Given the description of an element on the screen output the (x, y) to click on. 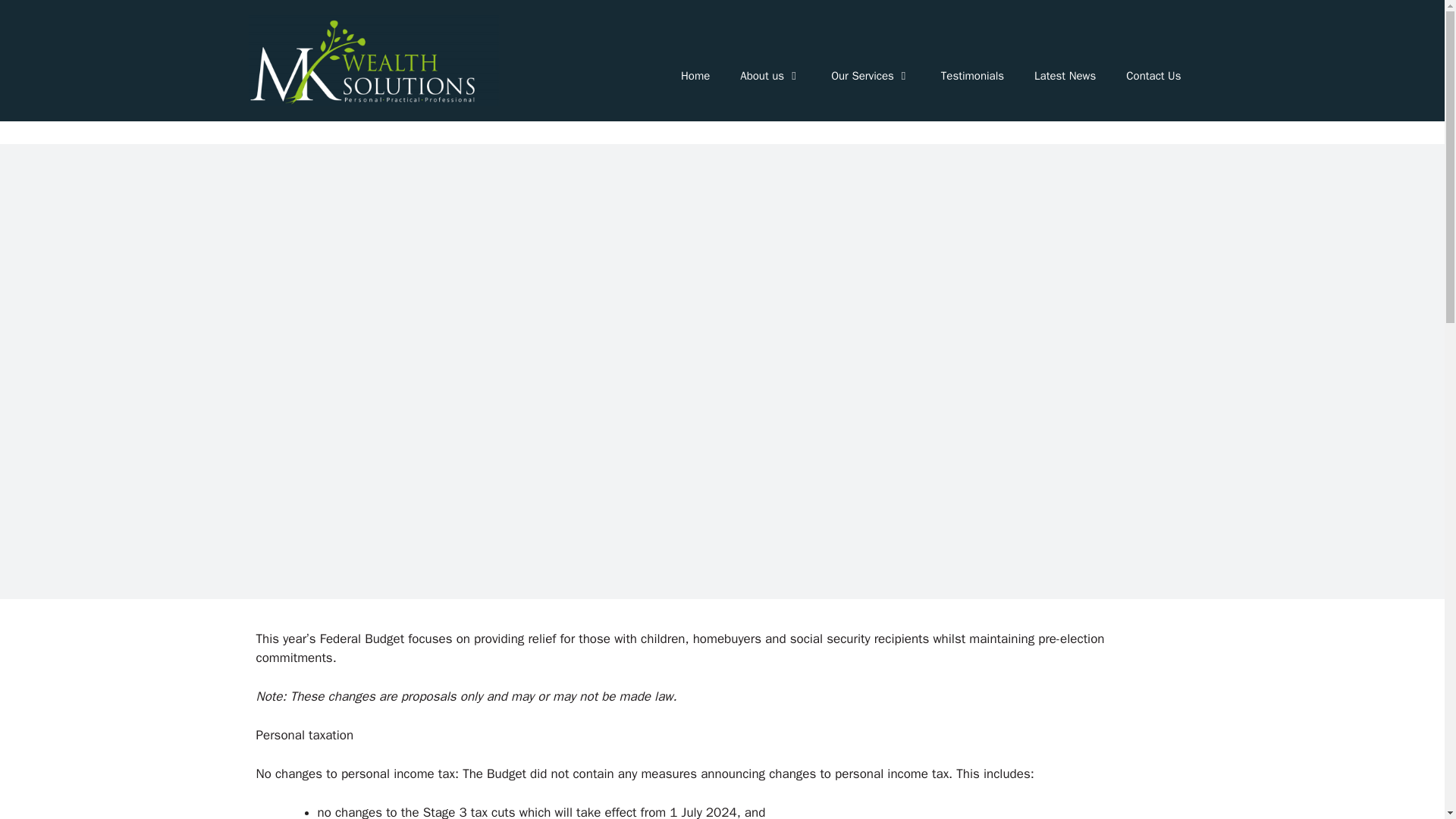
Home (695, 75)
About us (770, 75)
Our Services (870, 75)
Testimonials (972, 75)
Latest News (1064, 75)
Contact Us (1152, 75)
